Given the description of an element on the screen output the (x, y) to click on. 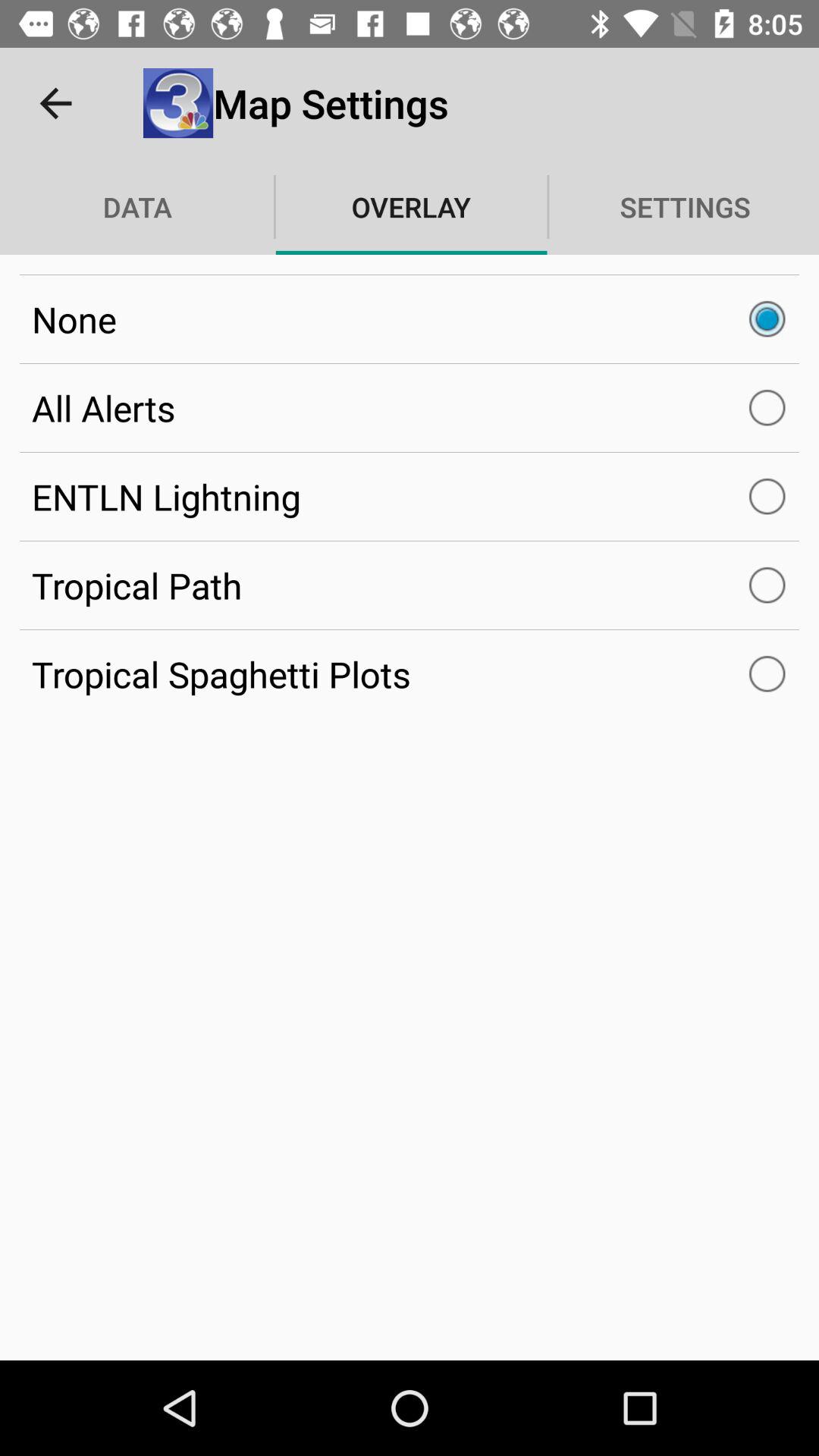
swipe to the all alerts item (409, 408)
